Given the description of an element on the screen output the (x, y) to click on. 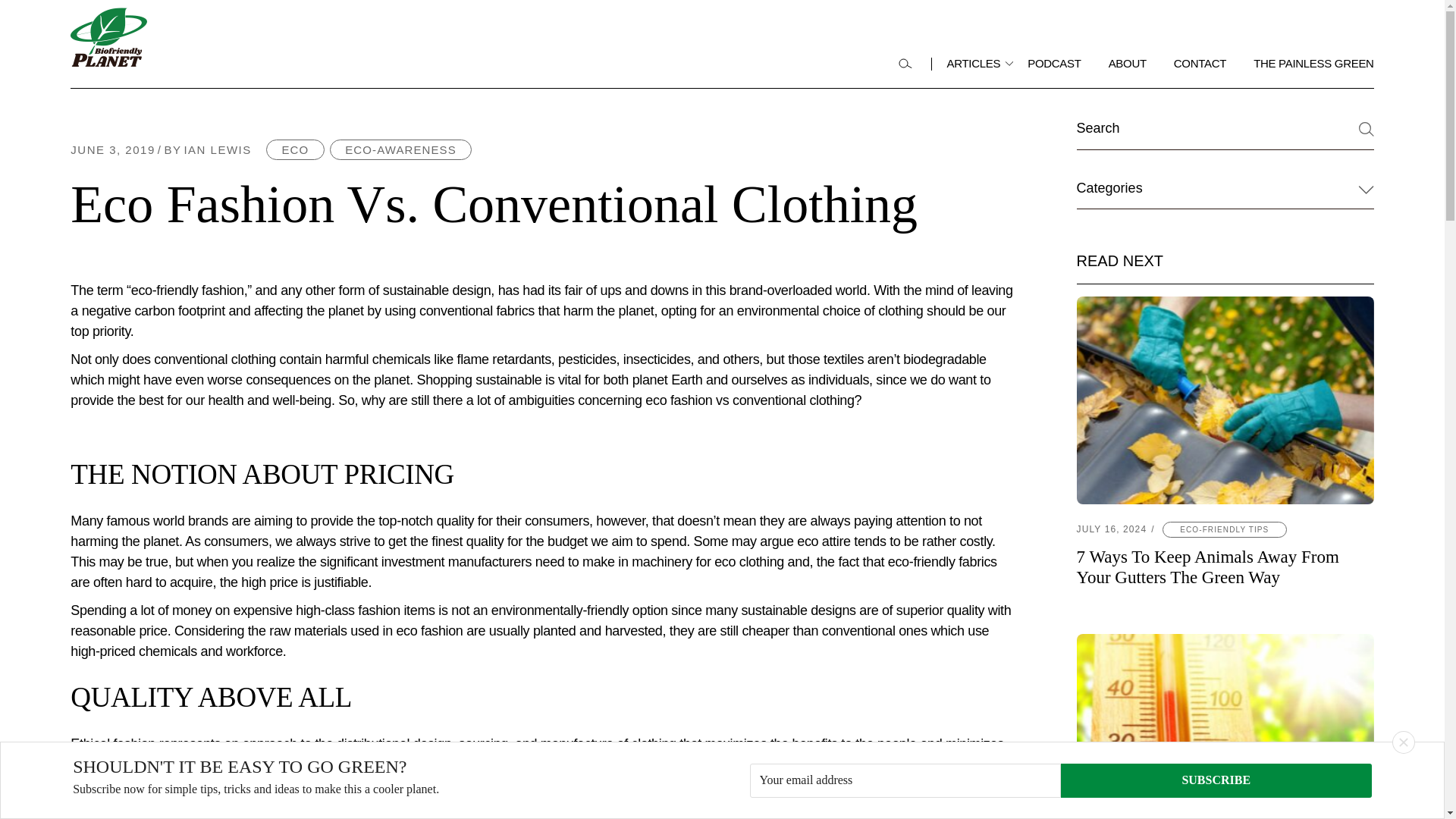
ARTICLES (206, 149)
CONTACT (974, 63)
ABOUT (1199, 63)
Subscribe (1127, 63)
ECO (1216, 779)
ECO-AWARENESS (295, 149)
THE PAINLESS GREEN (400, 149)
Close (1313, 63)
companies like Rockay (1403, 742)
machinery for eco clothing (295, 812)
JUNE 3, 2019 (707, 561)
PODCAST (111, 149)
carbon footprint (1053, 63)
